Given the description of an element on the screen output the (x, y) to click on. 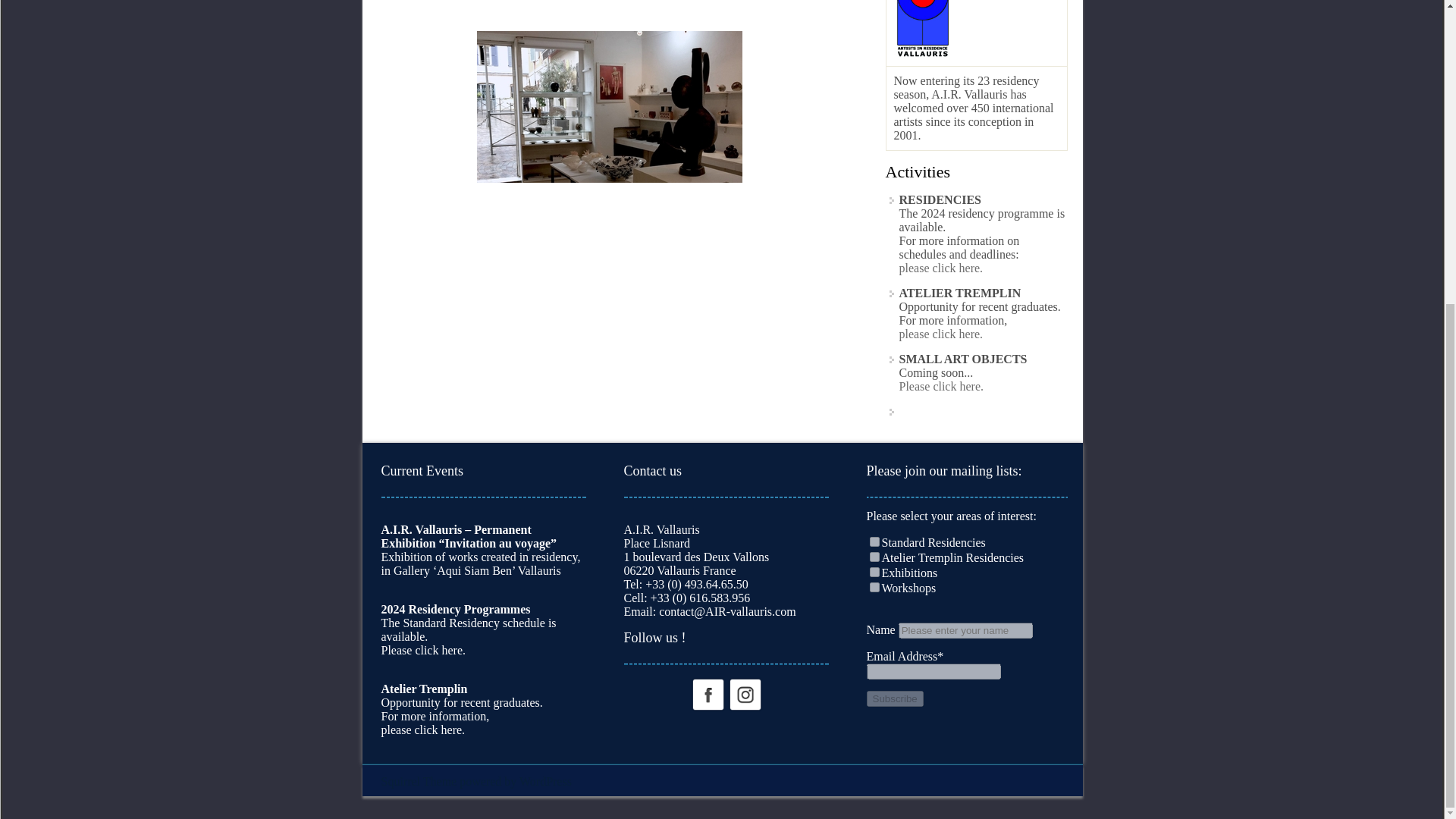
36 (874, 587)
Visit Us On Instagram (744, 693)
Subscribe (894, 698)
34 (874, 556)
33 (874, 542)
35 (874, 572)
Visit Us On Facebook (706, 693)
